Given the description of an element on the screen output the (x, y) to click on. 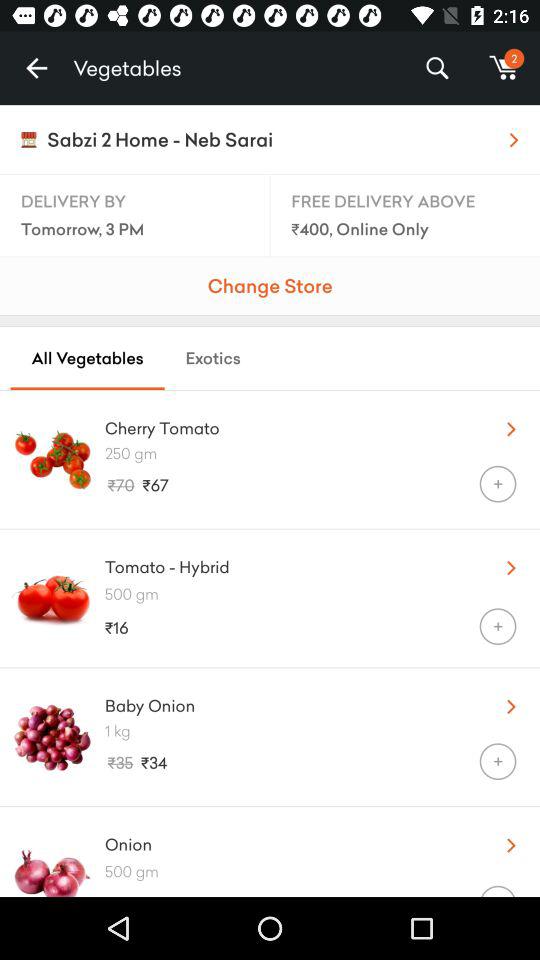
tap the item to the left of u item (288, 562)
